Given the description of an element on the screen output the (x, y) to click on. 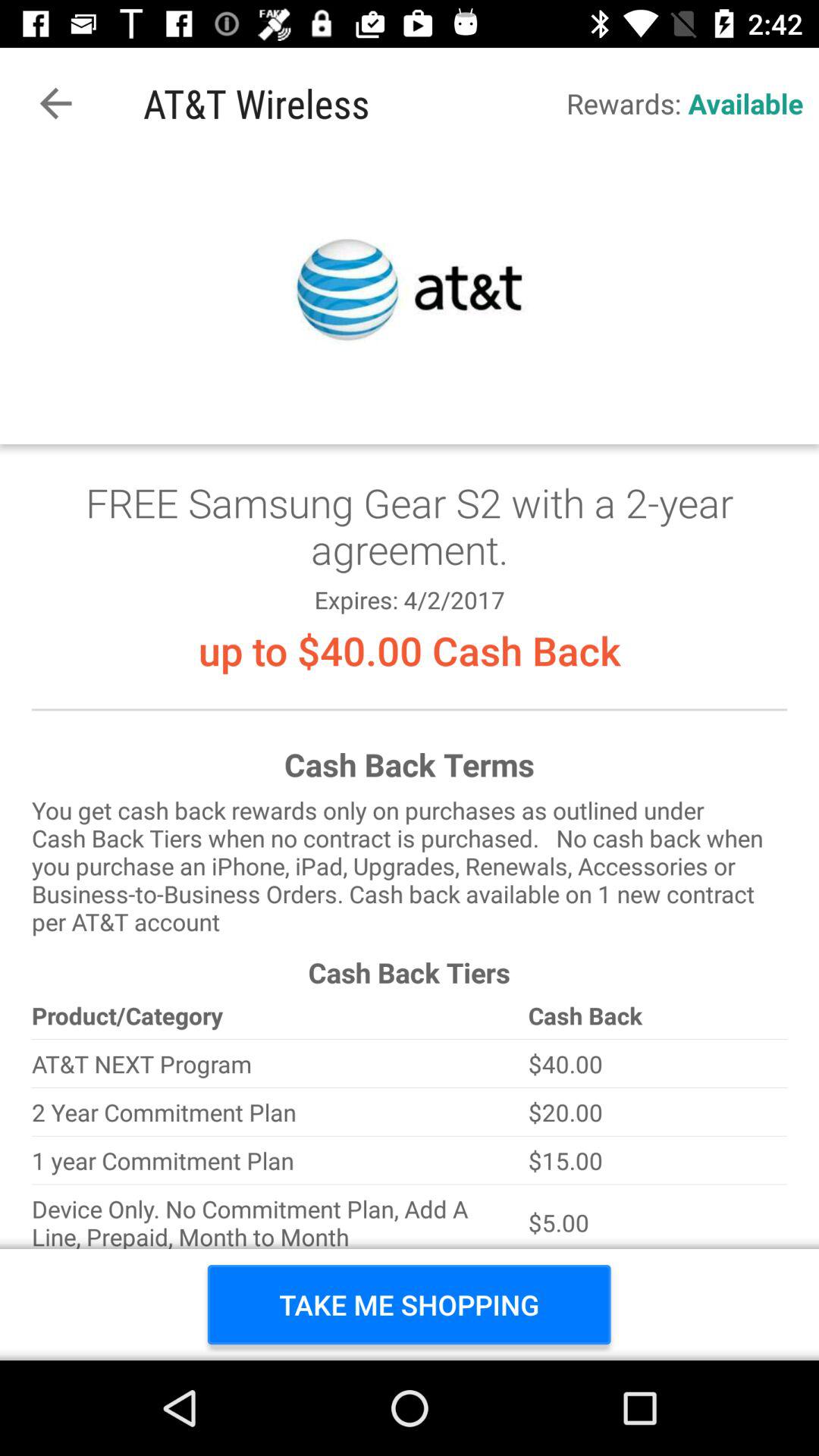
press app to the left of at&t wireless (55, 103)
